Given the description of an element on the screen output the (x, y) to click on. 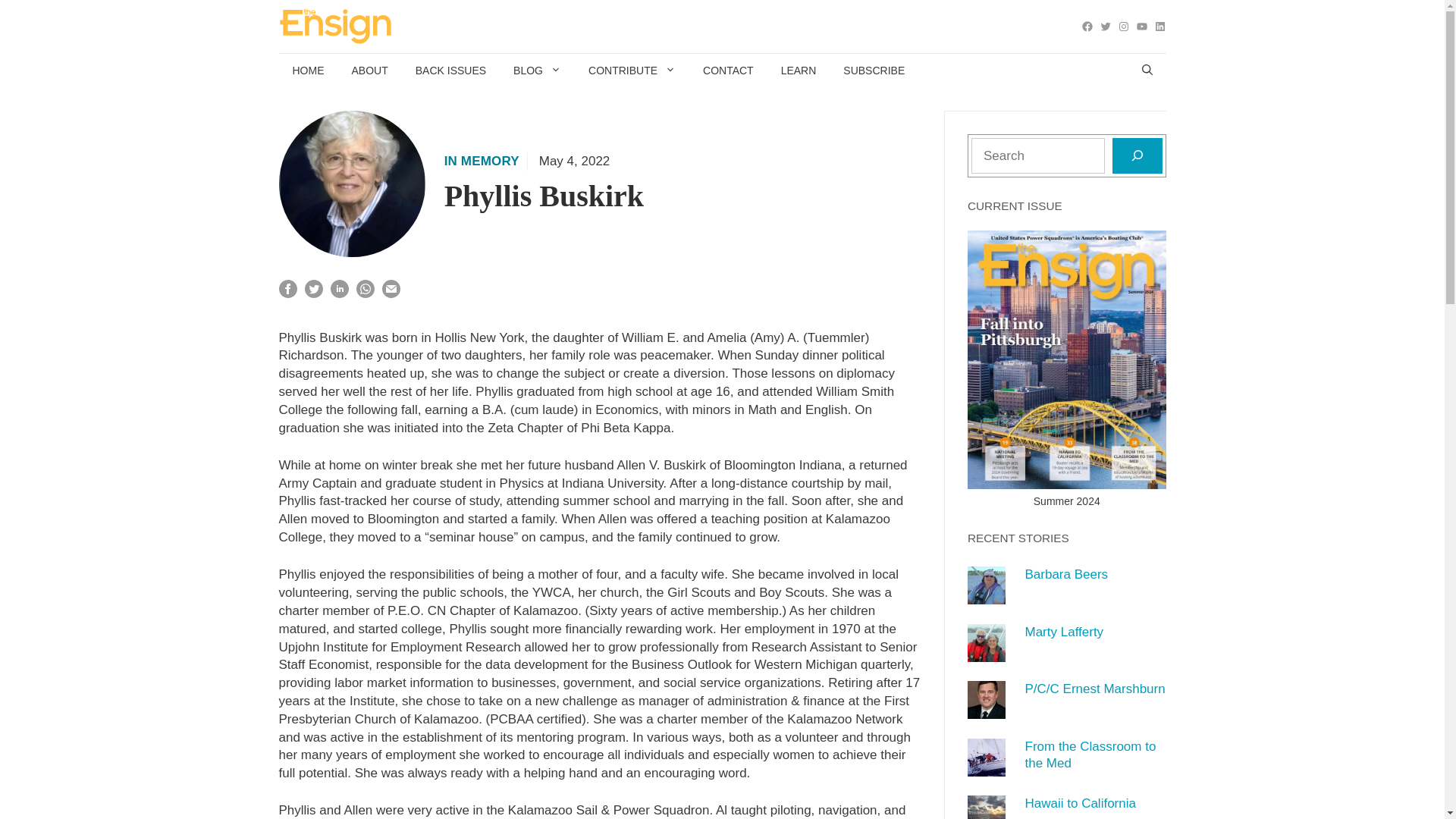
Facebook (1087, 26)
Share this post! (339, 293)
Share this post! (288, 293)
Tweet this post! (313, 293)
From the Classroom to the Med (987, 766)
Share this post! (365, 293)
Twitter (1105, 26)
Email this post! (390, 293)
Marty Lafferty (987, 652)
Instagram (1123, 26)
